Given the description of an element on the screen output the (x, y) to click on. 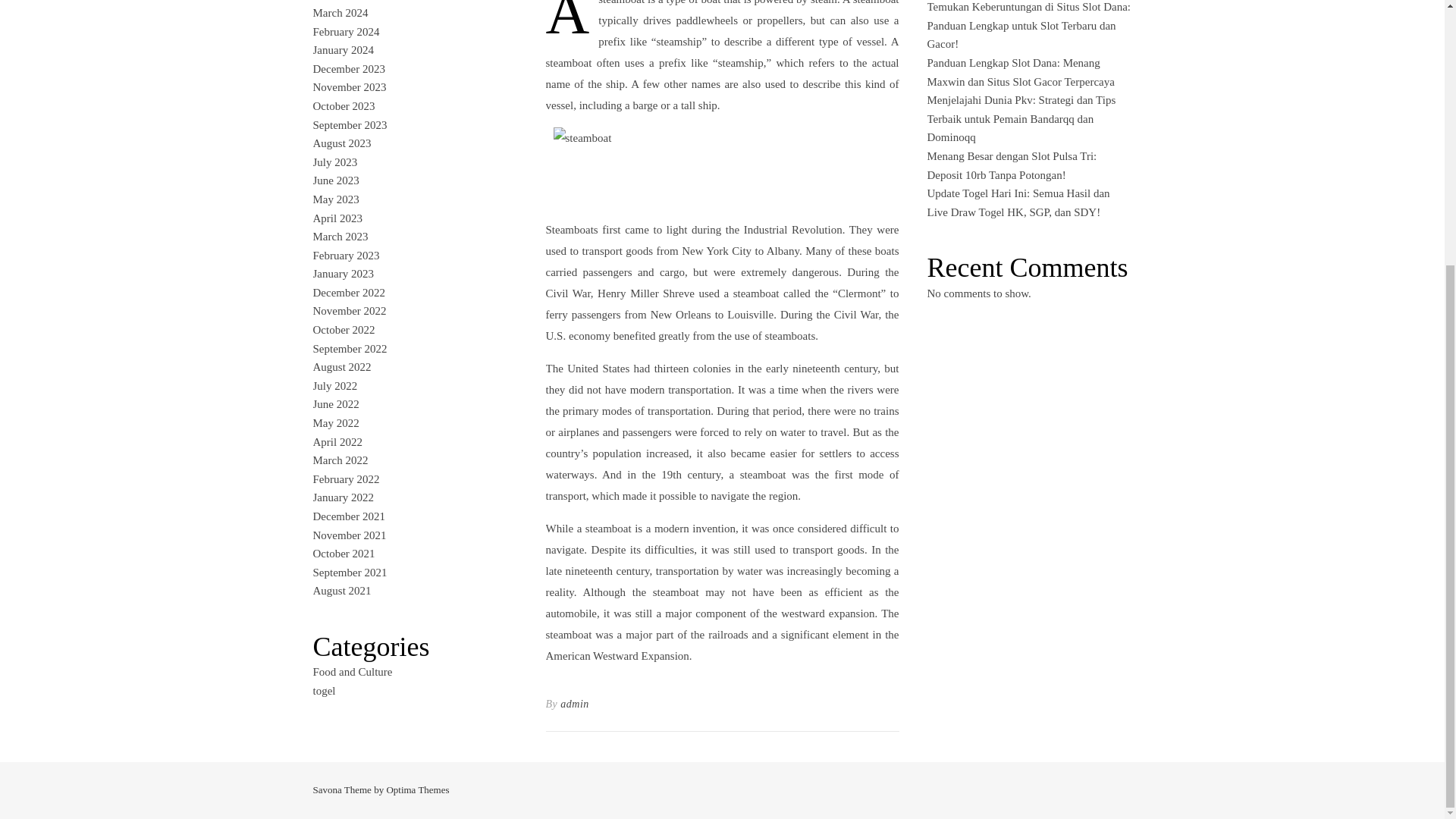
March 2024 (340, 12)
August 2022 (342, 367)
October 2022 (343, 329)
June 2022 (335, 404)
July 2022 (334, 386)
December 2022 (348, 292)
May 2023 (335, 199)
February 2024 (345, 31)
June 2023 (335, 180)
March 2022 (340, 460)
